Given the description of an element on the screen output the (x, y) to click on. 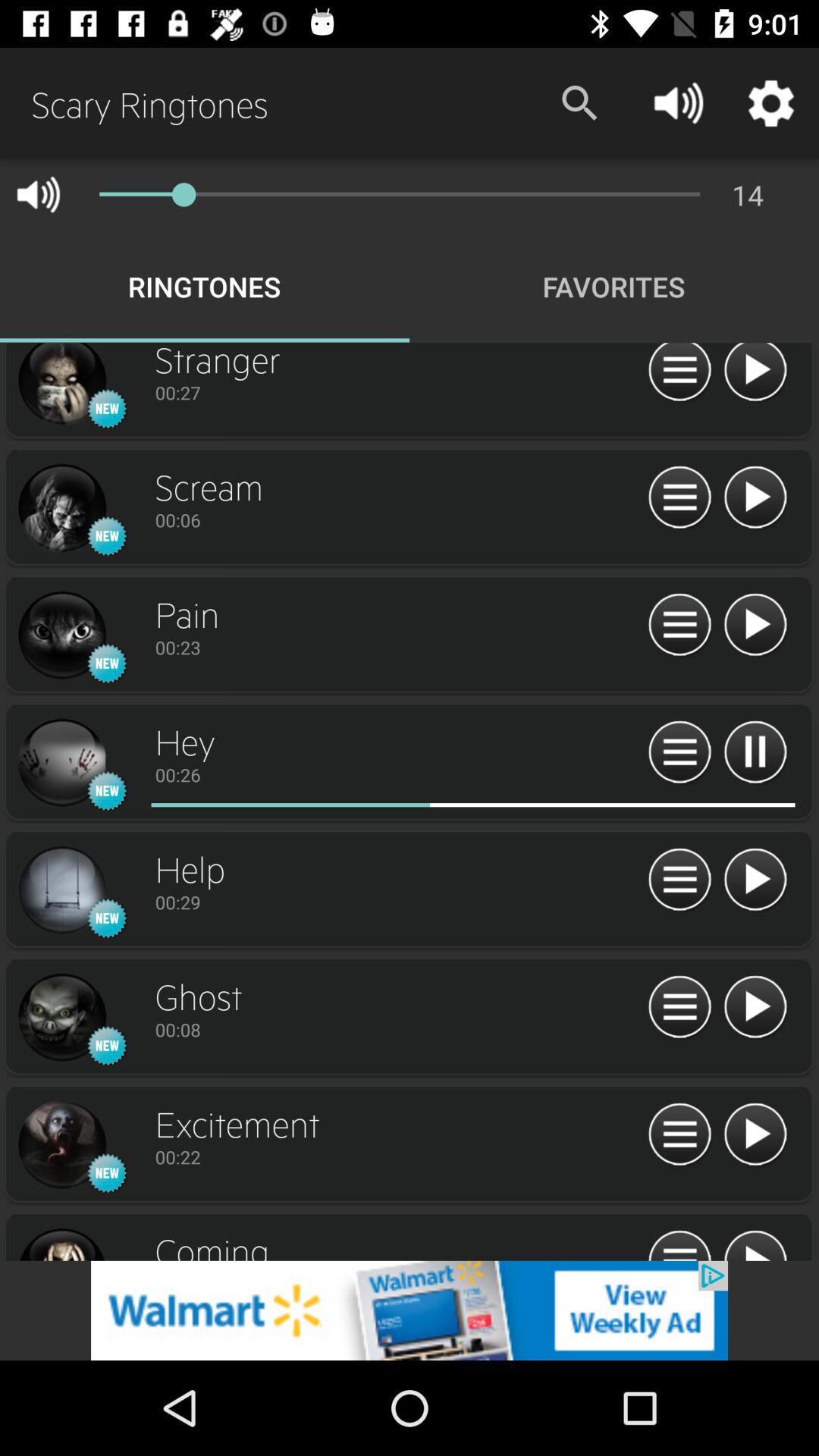
go to play option (679, 1135)
